Given the description of an element on the screen output the (x, y) to click on. 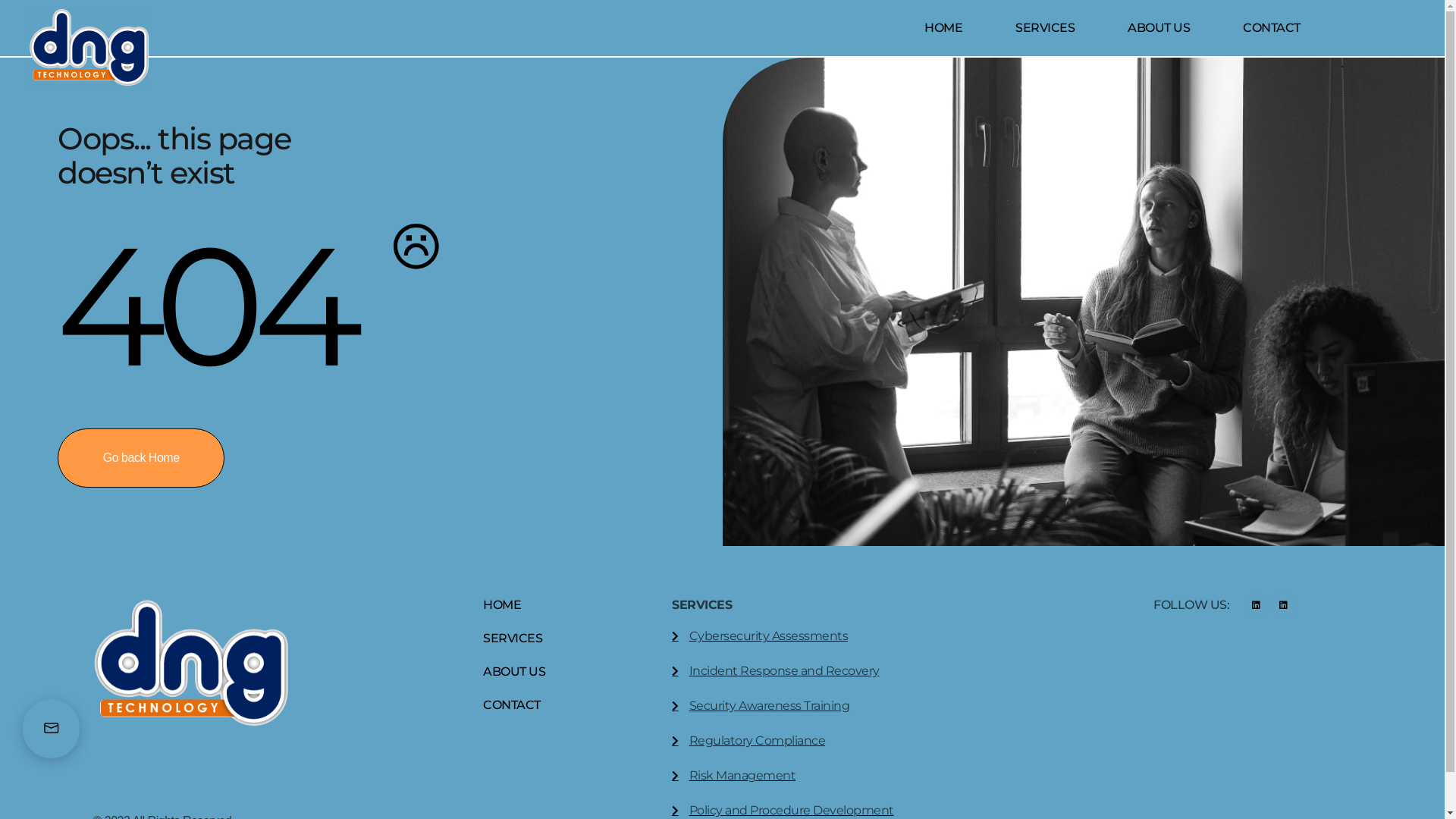
HOME Element type: text (943, 27)
Incident Response and Recovery Element type: text (893, 670)
Cybersecurity Assessments Element type: text (893, 636)
SERVICES Element type: text (514, 638)
ABOUT US Element type: text (514, 671)
Go back Home Element type: text (140, 457)
Risk Management Element type: text (893, 775)
Regulatory Compliance Element type: text (893, 740)
CONTACT Element type: text (514, 705)
HOME Element type: text (514, 605)
Security Awareness Training Element type: text (893, 705)
ABOUT US Element type: text (1158, 27)
SERVICES Element type: text (1044, 27)
CONTACT Element type: text (1271, 27)
dng-tech-trans Element type: hover (88, 46)
